Given the description of an element on the screen output the (x, y) to click on. 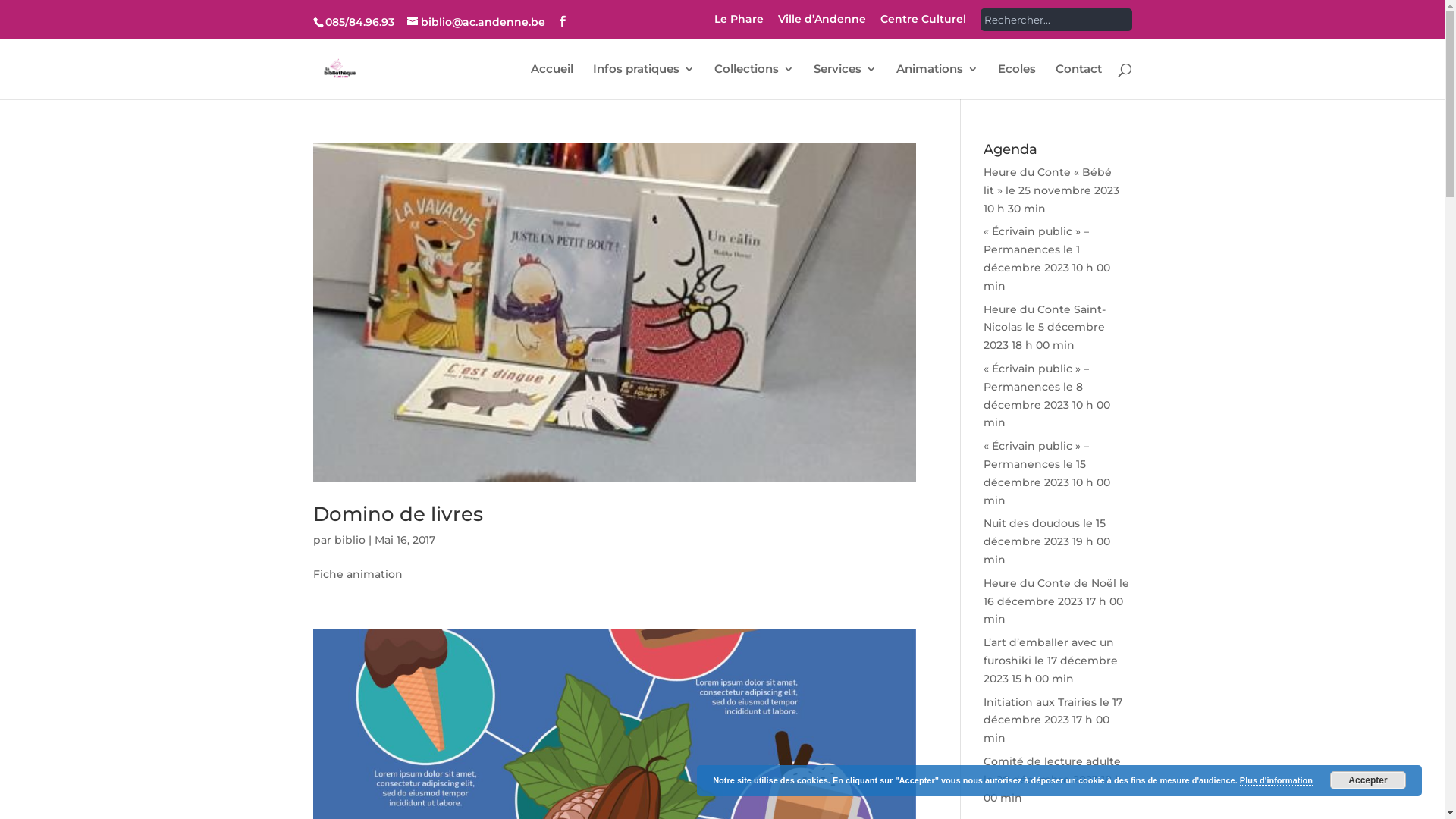
Collections Element type: text (753, 81)
Domino de livres Element type: text (397, 514)
Services Element type: text (843, 81)
Plus d'information Element type: text (1275, 780)
Nuit des doudous Element type: text (1031, 523)
Centre Culturel Element type: text (922, 22)
Contact Element type: text (1078, 81)
Accueil Element type: text (551, 81)
Initiation aux Trairies Element type: text (1039, 702)
Accepter Element type: text (1367, 780)
Ecoles Element type: text (1016, 81)
biblio Element type: text (348, 539)
Le Phare Element type: text (738, 22)
Infos pratiques Element type: text (643, 81)
Heure du Conte Saint-Nicolas Element type: text (1044, 318)
biblio@ac.andenne.be Element type: text (475, 21)
Animations Element type: text (937, 81)
